Given the description of an element on the screen output the (x, y) to click on. 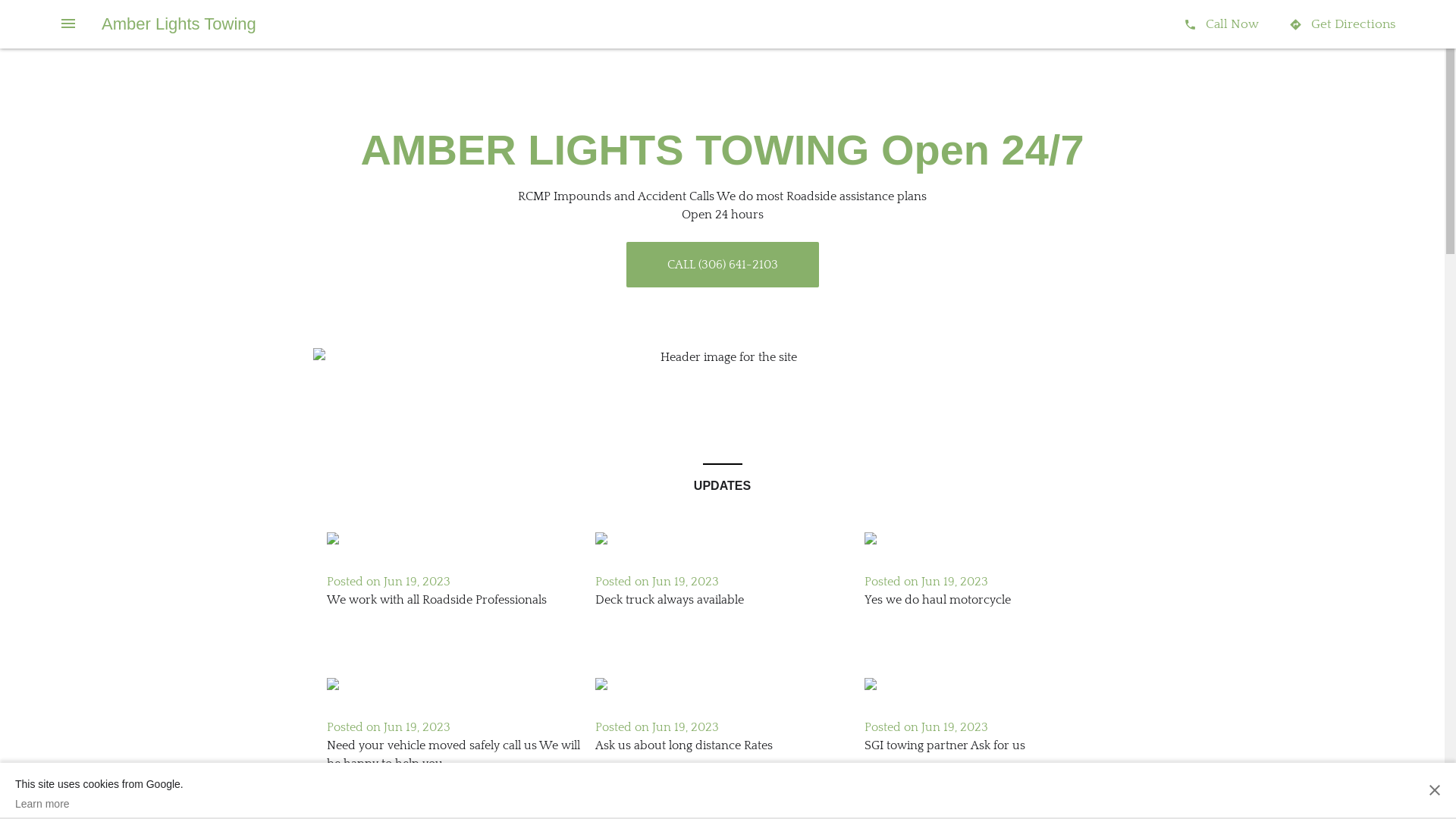
Posted on Jun 19, 2023 Element type: text (387, 727)
Posted on Jun 19, 2023 Element type: text (926, 727)
Posted on Jun 19, 2023 Element type: text (926, 581)
CALL (306) 641-2103 Element type: text (722, 264)
Learn more Element type: text (99, 803)
Posted on Jun 19, 2023 Element type: text (656, 727)
Amber Lights Towing Element type: text (178, 23)
Posted on Jun 19, 2023 Element type: text (656, 581)
Posted on Jun 19, 2023 Element type: text (387, 581)
